Given the description of an element on the screen output the (x, y) to click on. 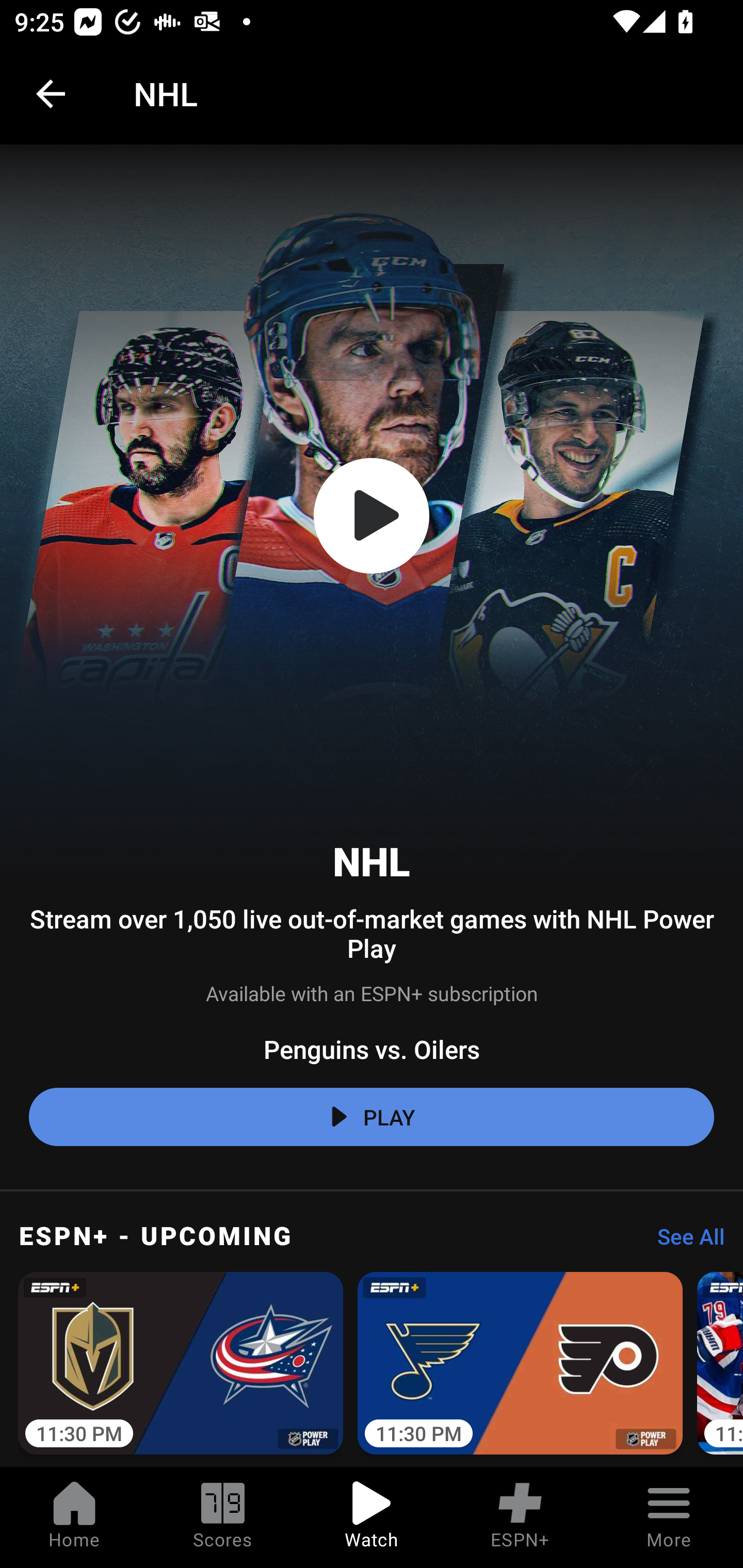
 (371, 515)
PLAY (371, 1117)
See All (683, 1241)
11:30 PM (180, 1366)
11:30 PM (519, 1366)
Home (74, 1517)
Scores (222, 1517)
ESPN+ (519, 1517)
More (668, 1517)
